Given the description of an element on the screen output the (x, y) to click on. 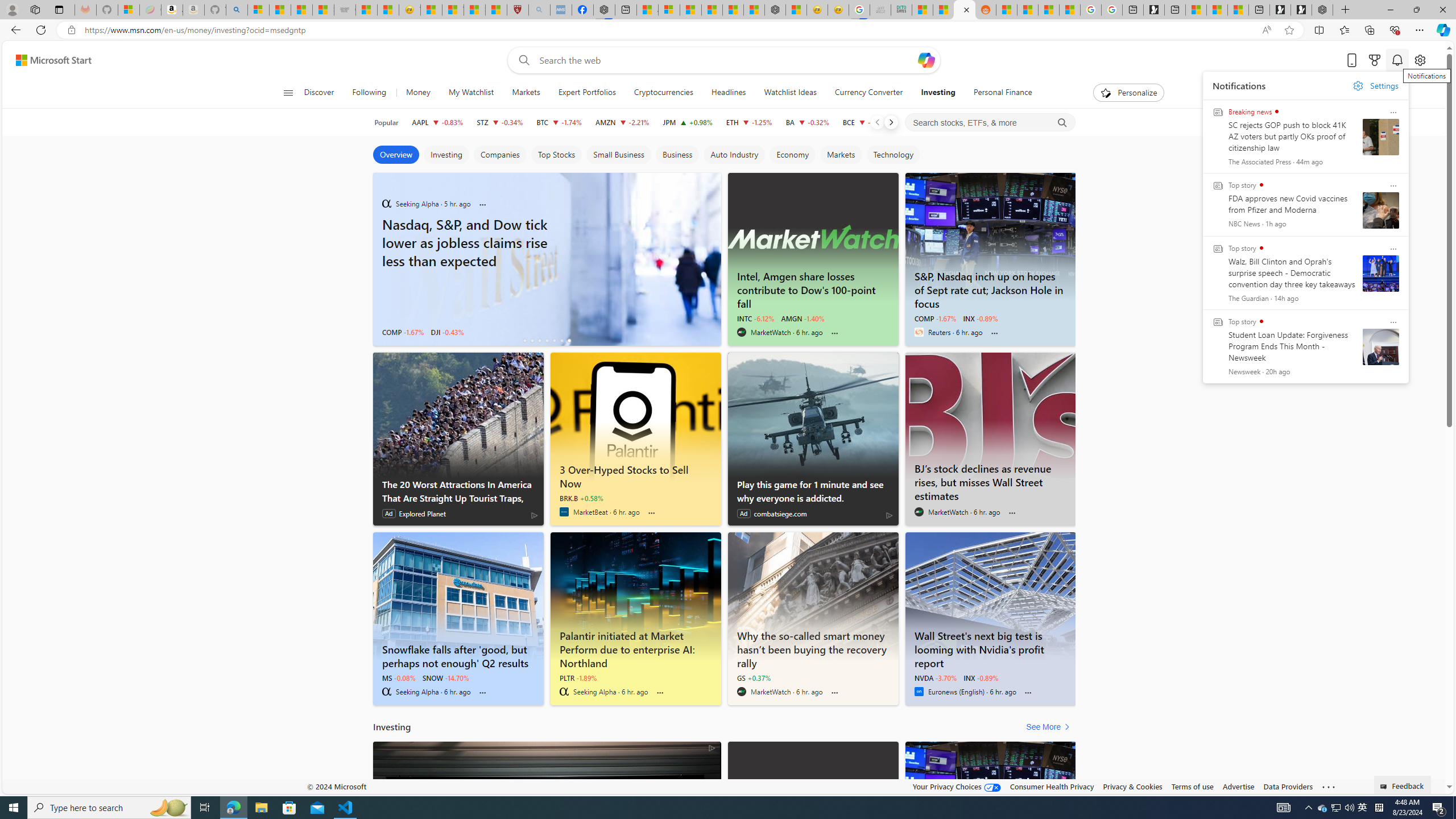
AAPL APPLE INC. decrease 224.53 -1.87 -0.83% (437, 122)
MSN (964, 9)
Following (370, 92)
Open navigation menu (287, 92)
Seeking Alpha (564, 691)
Previous (876, 122)
AMZN AMAZON.COM, INC. decrease 176.13 -3.98 -2.21% (622, 122)
MarketWatch (740, 691)
Top Stocks (555, 154)
PLTR -1.89% (577, 677)
